Given the description of an element on the screen output the (x, y) to click on. 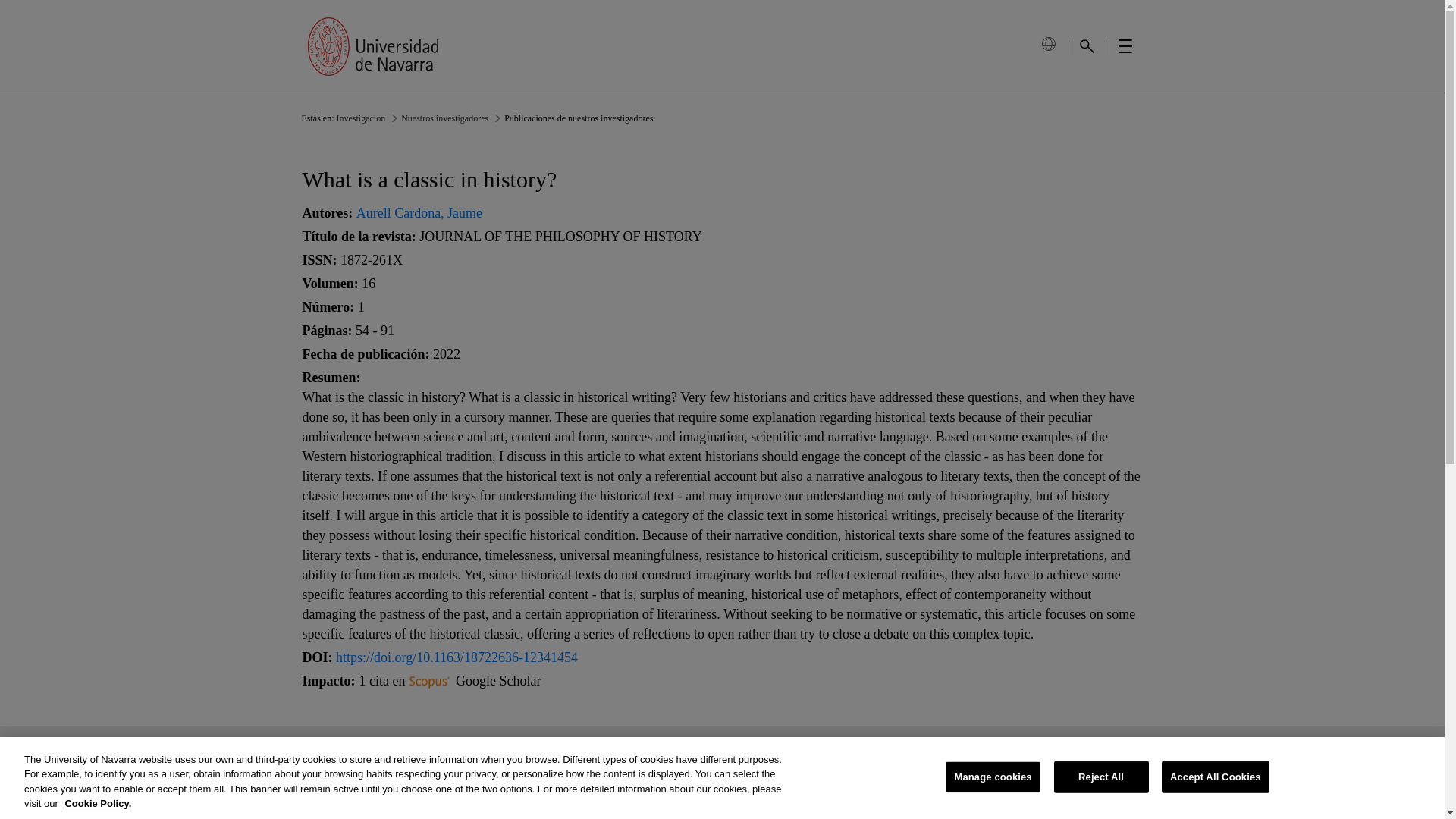
Investigacion (360, 118)
TikTok (841, 764)
1 cita en (404, 680)
Nuestros investigadores (444, 118)
X (601, 764)
Buscar (1086, 46)
Investigacion (360, 118)
Nuestros investigadores (444, 118)
Aurell Cardona, Jaume (418, 212)
Google Scholar (497, 680)
Linkedin (662, 764)
Instagram (542, 764)
Universidad de Navarra (372, 46)
Youtube (782, 764)
Facebook (721, 764)
